Given the description of an element on the screen output the (x, y) to click on. 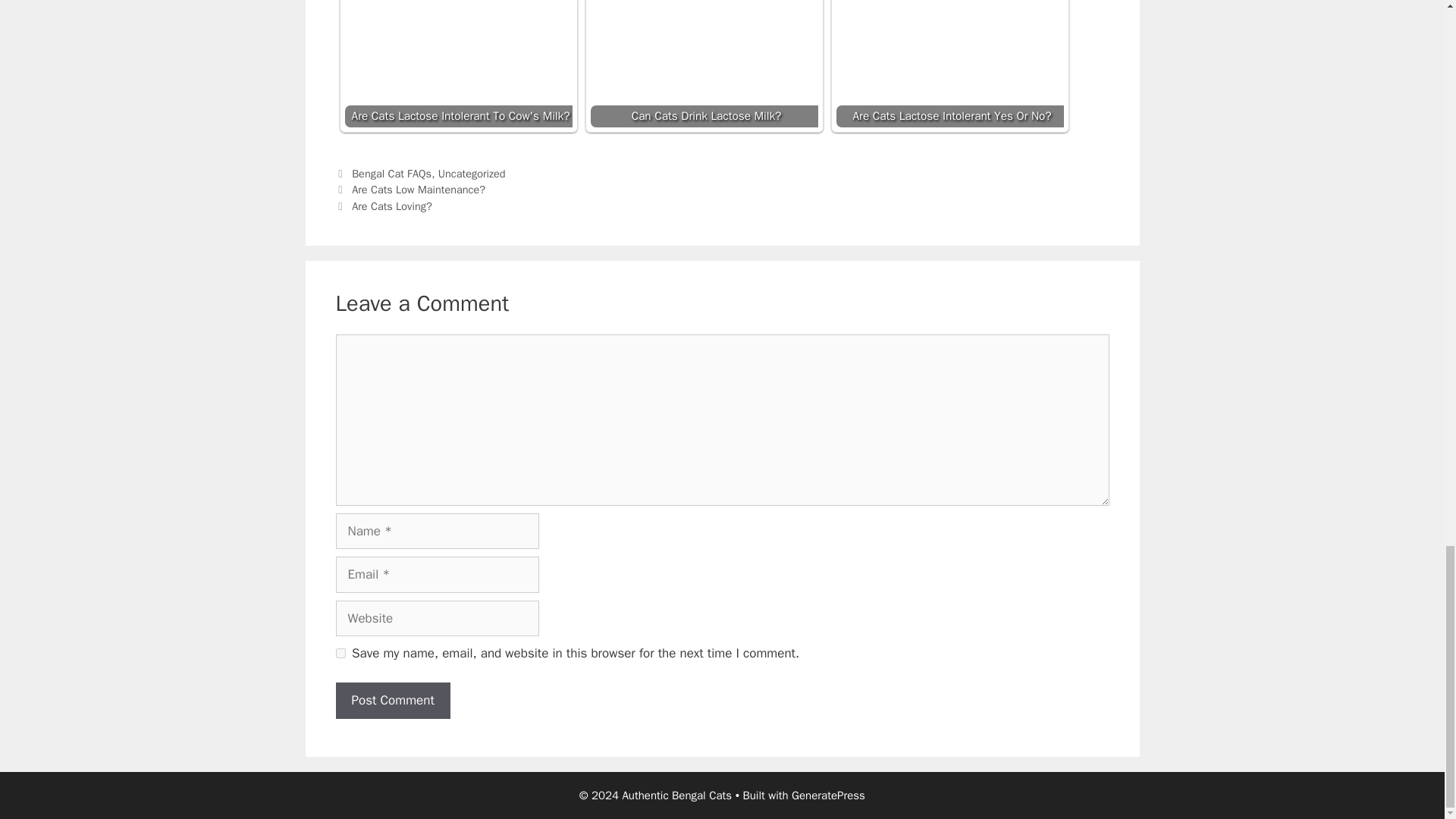
Can Cats Drink Lactose Milk? (702, 63)
Uncategorized (471, 173)
GeneratePress (828, 795)
Are Cats Low Maintenance? (418, 189)
Post Comment (391, 700)
Post Comment (391, 700)
Are Cats Lactose Intolerant Yes Or No? (948, 63)
Are Cats Loving? (392, 205)
yes (339, 653)
Bengal Cat FAQs (391, 173)
